Given the description of an element on the screen output the (x, y) to click on. 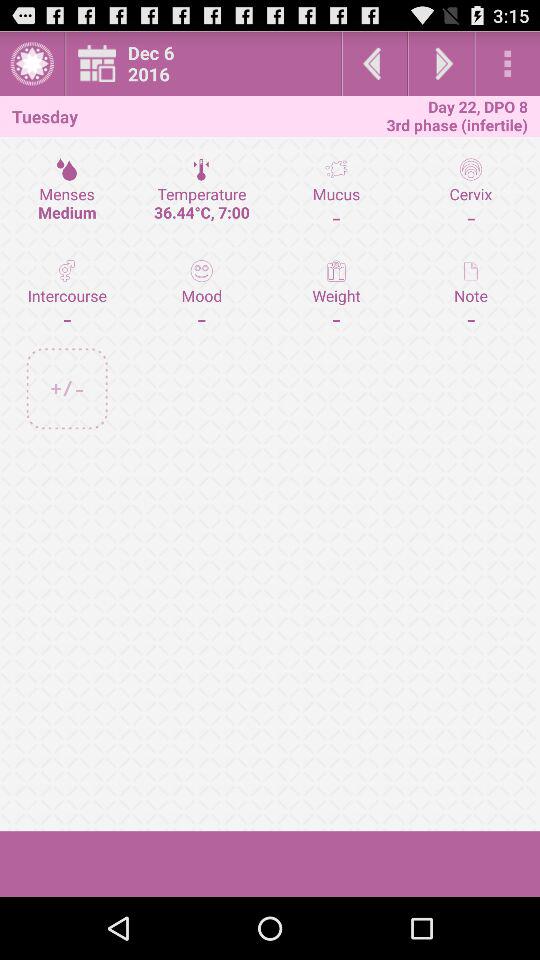
tap the icon to the right of the temperature 36 44 item (336, 294)
